Given the description of an element on the screen output the (x, y) to click on. 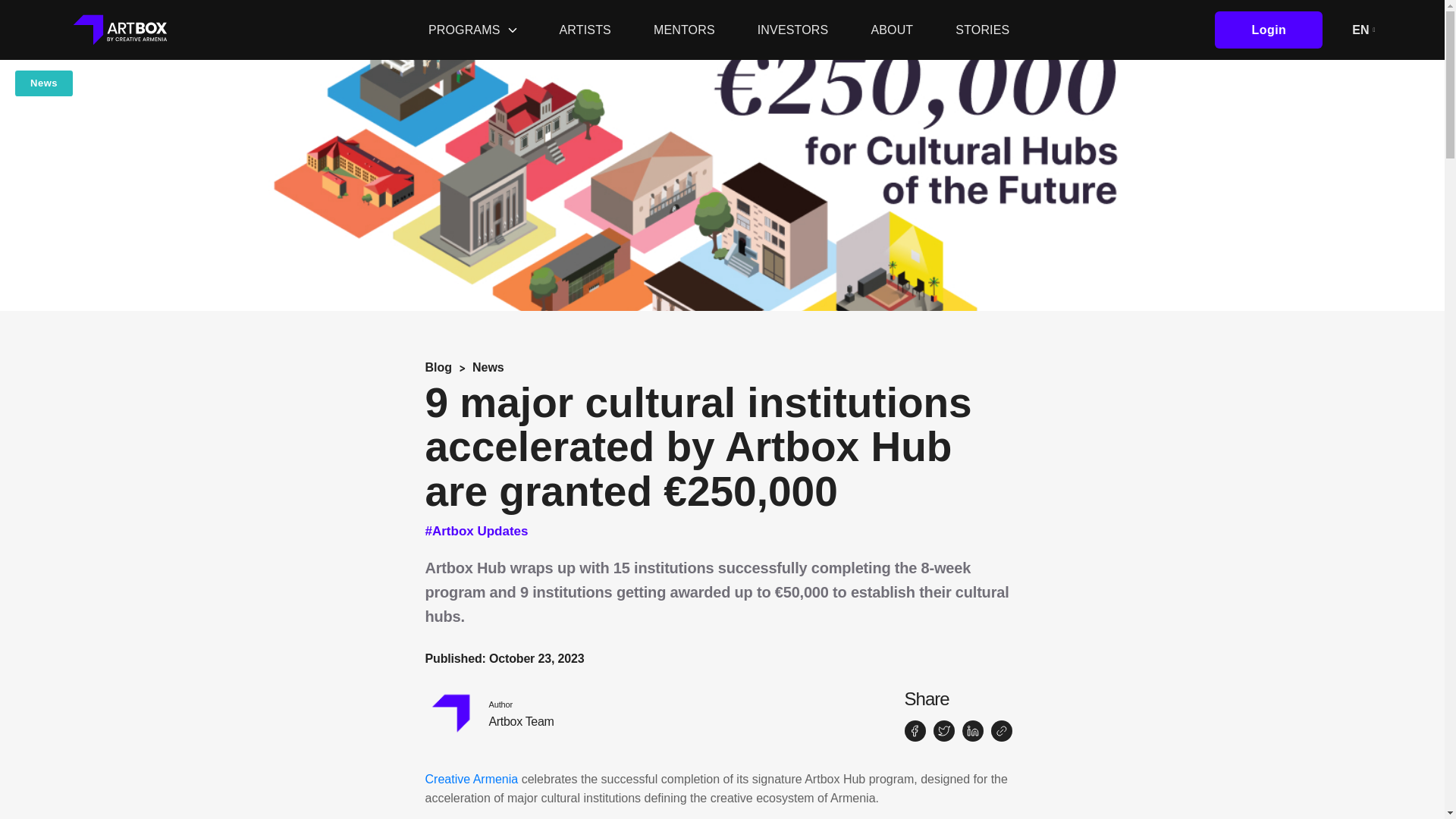
EN (1363, 29)
News (487, 367)
ARTISTS (585, 28)
Creative Armenia (471, 779)
PROGRAMS (472, 30)
MENTORS (683, 28)
link (1000, 731)
Blog (438, 367)
INVESTORS (792, 28)
STORIES (981, 28)
facebook (914, 731)
ABOUT (489, 714)
Art Box (891, 28)
twitter (119, 29)
